Given the description of an element on the screen output the (x, y) to click on. 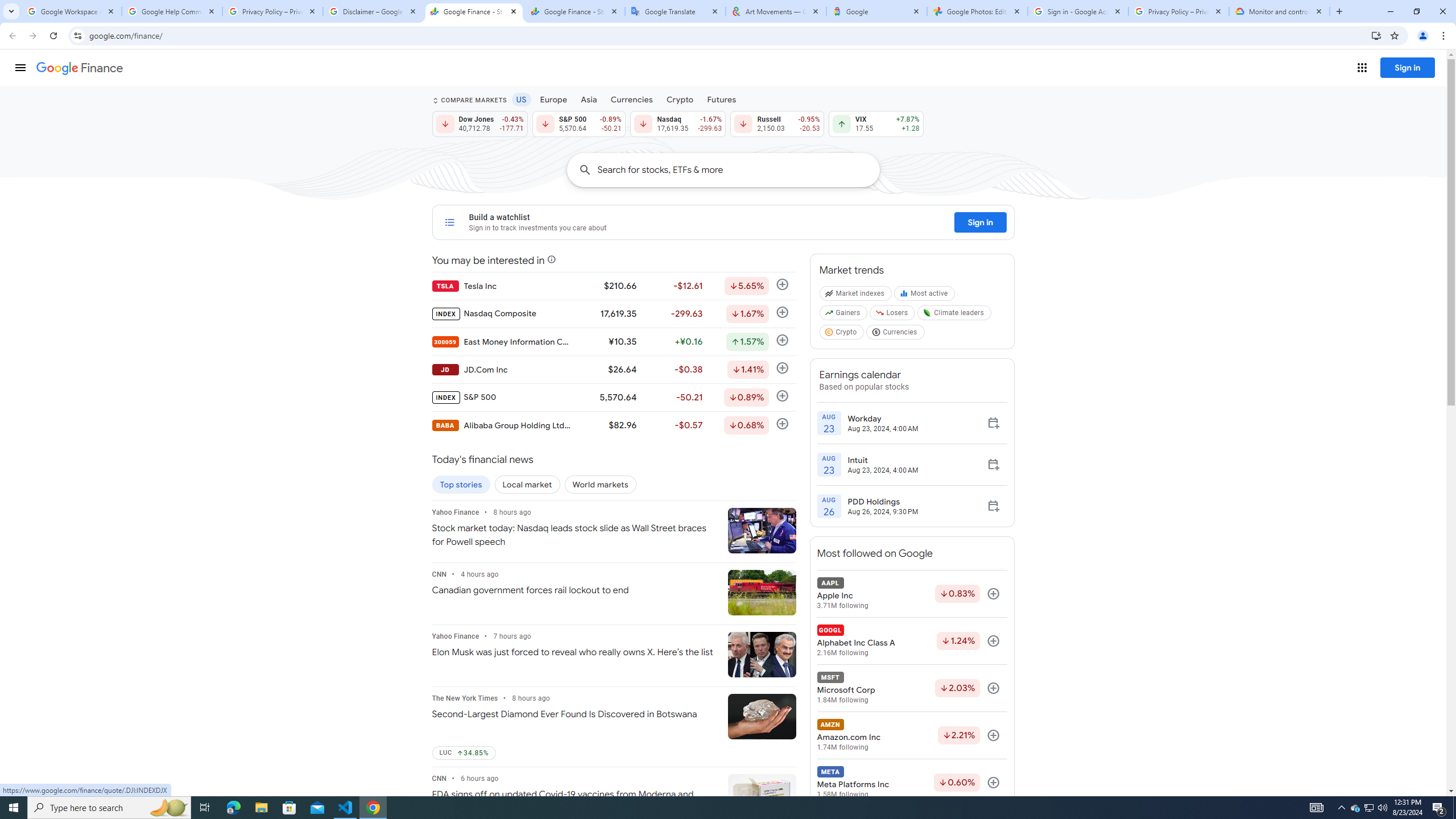
Google (876, 11)
JD JD.Com Inc $26.64 -$0.38 Down by 1.41% Follow (613, 369)
Most active (925, 295)
Gainers (844, 315)
GLeaf logo (927, 312)
COMPARE MARKETS (468, 100)
PDD Holdings (882, 501)
TSLA Tesla Inc $210.66 -$12.61 Down by 5.65% Follow (613, 285)
